Given the description of an element on the screen output the (x, y) to click on. 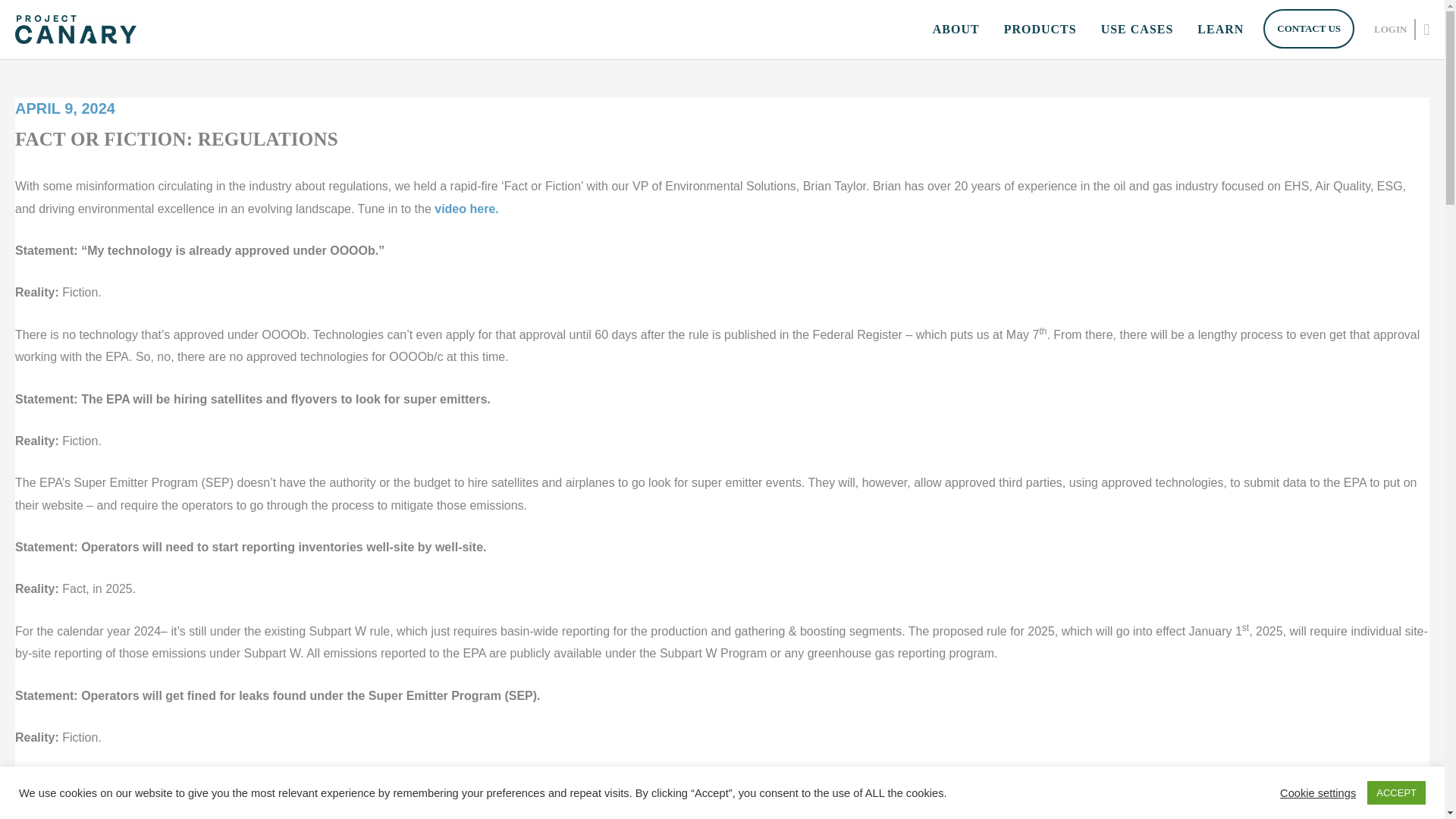
CONTACT US (1308, 28)
ABOUT (955, 29)
PRODUCTS (1040, 29)
LOGIN (1383, 29)
LEARN (1220, 29)
USE CASES (1137, 29)
